Given the description of an element on the screen output the (x, y) to click on. 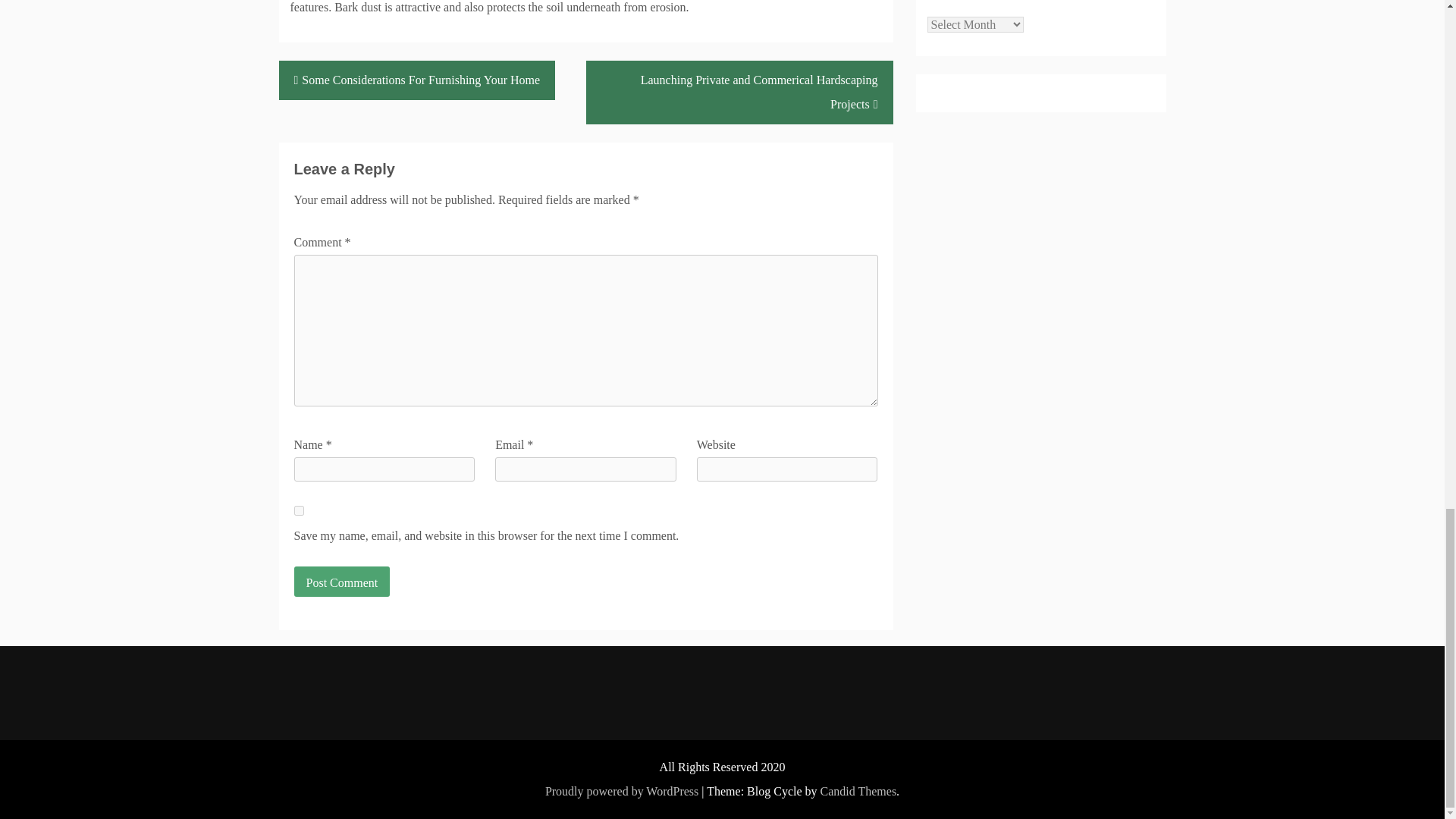
Post Comment (342, 581)
Post Comment (342, 581)
Candid Themes (858, 790)
Launching Private and Commerical Hardscaping Projects (738, 92)
yes (299, 510)
Some Considerations For Furnishing Your Home (417, 79)
Proudly powered by WordPress (621, 790)
